Given the description of an element on the screen output the (x, y) to click on. 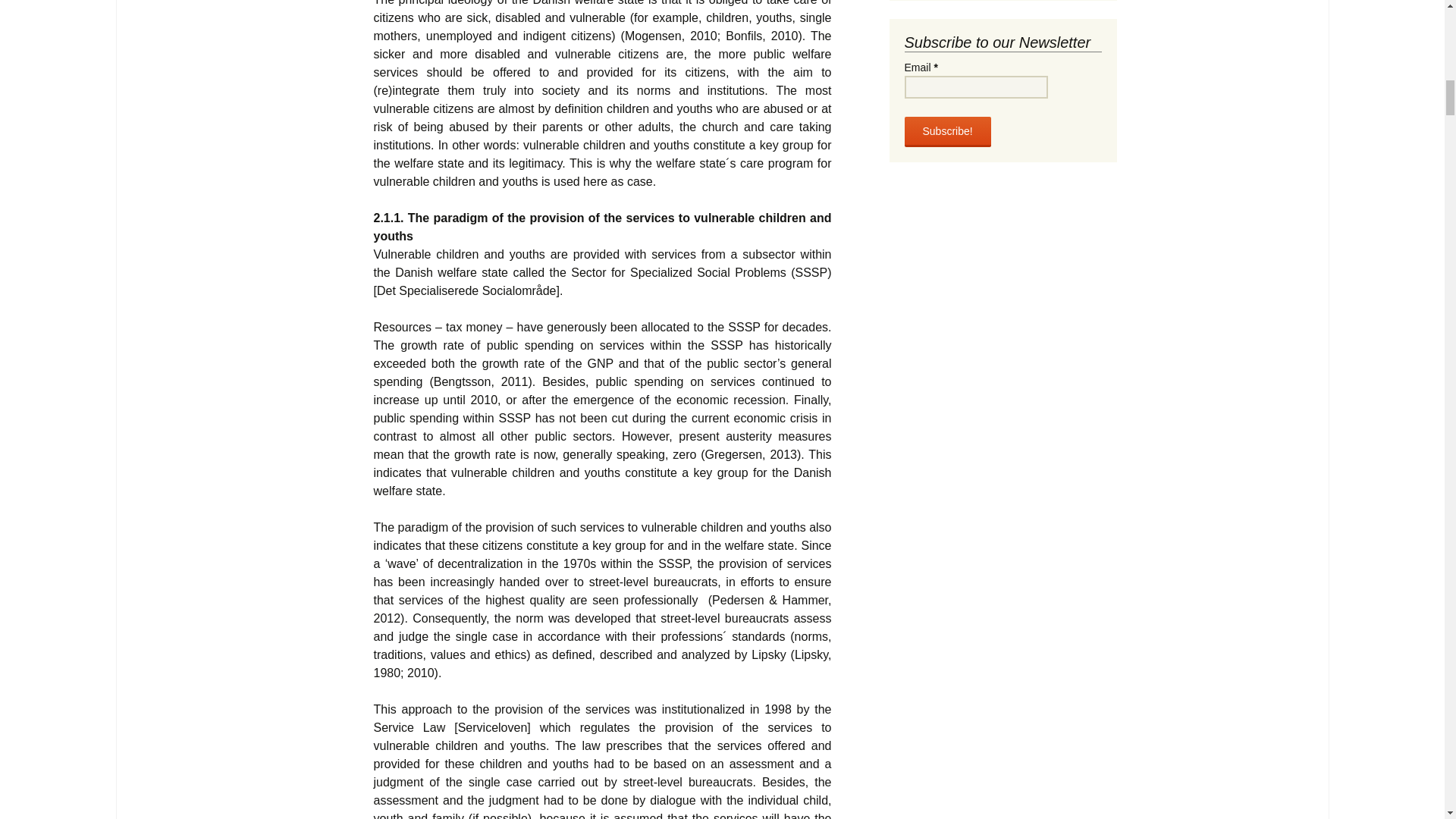
Email (975, 87)
Subscribe! (947, 132)
